Given the description of an element on the screen output the (x, y) to click on. 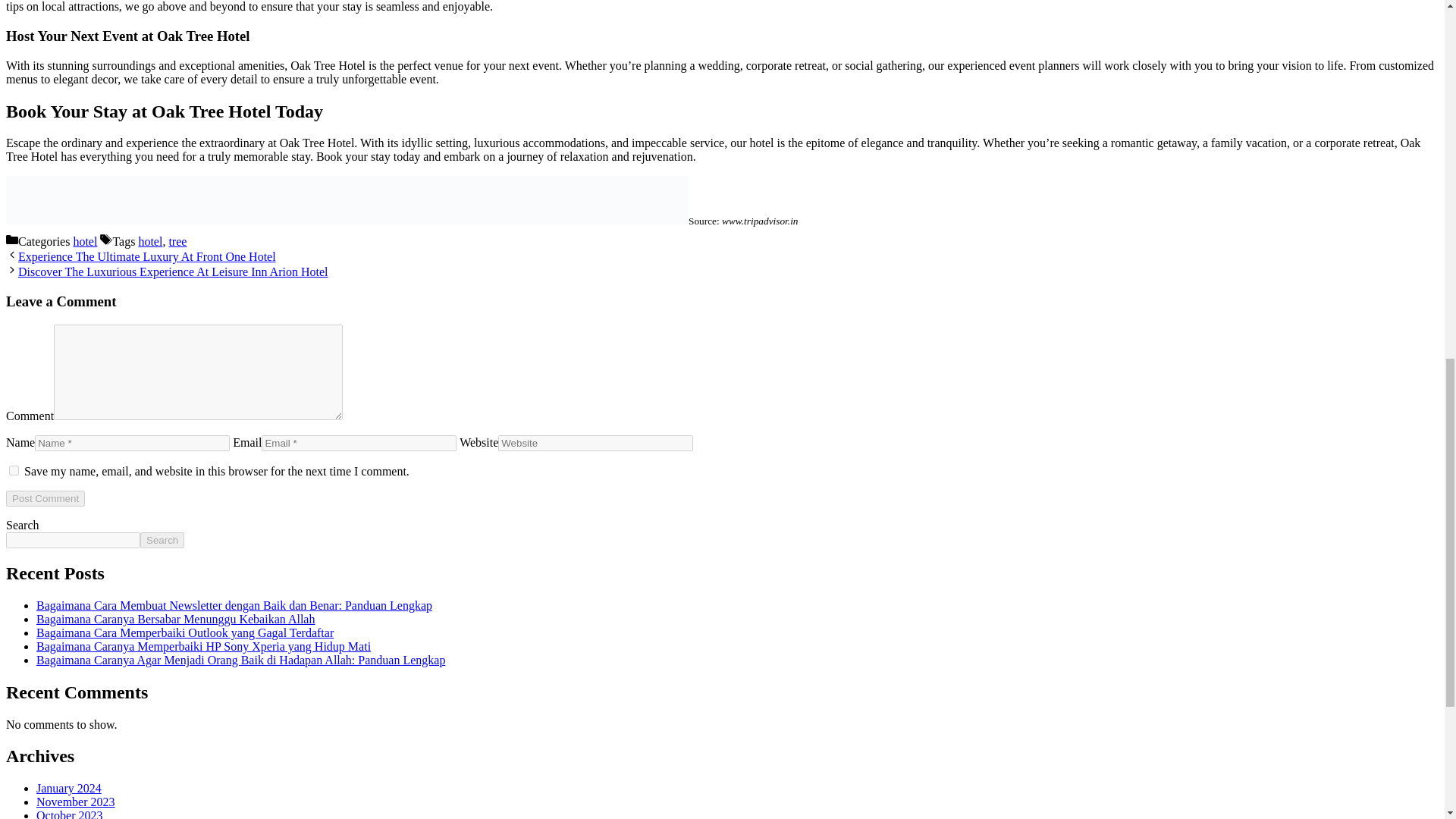
November 2023 (75, 801)
October 2023 (69, 814)
Bagaimana Caranya Memperbaiki HP Sony Xperia yang Hidup Mati (203, 645)
Experience The Ultimate Luxury At Front One Hotel (146, 256)
hotel (149, 241)
Post Comment (44, 498)
yes (13, 470)
tree (177, 241)
Bagaimana Cara Memperbaiki Outlook yang Gagal Terdaftar (184, 632)
January 2024 (68, 788)
hotel (84, 241)
Discover The Luxurious Experience At Leisure Inn Arion Hotel (172, 271)
Post Comment (44, 498)
Search (161, 539)
